Given the description of an element on the screen output the (x, y) to click on. 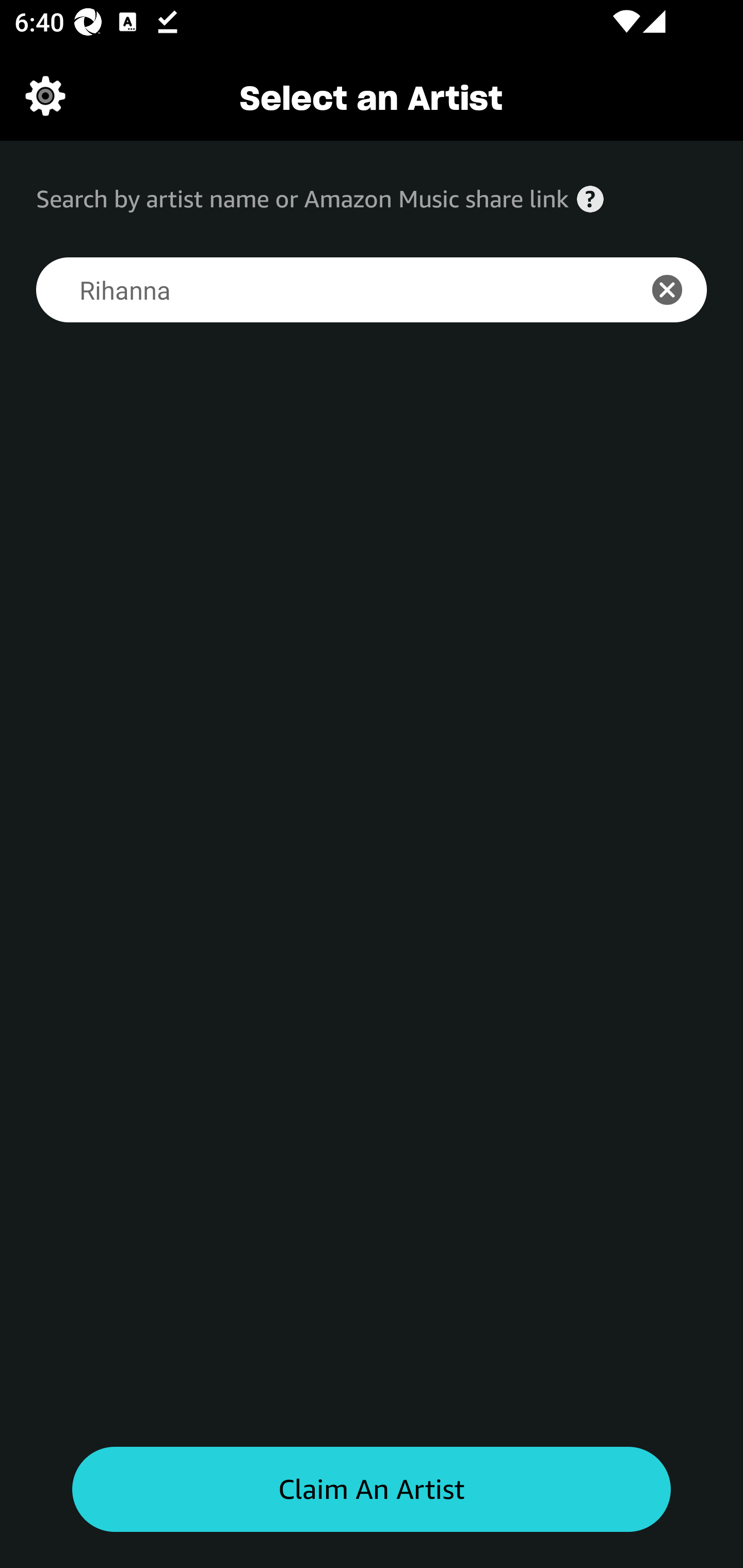
Help  icon (589, 199)
Rihanna Search for an artist search bar (324, 290)
 icon (677, 290)
Claim an artist button Claim An Artist (371, 1489)
